Given the description of an element on the screen output the (x, y) to click on. 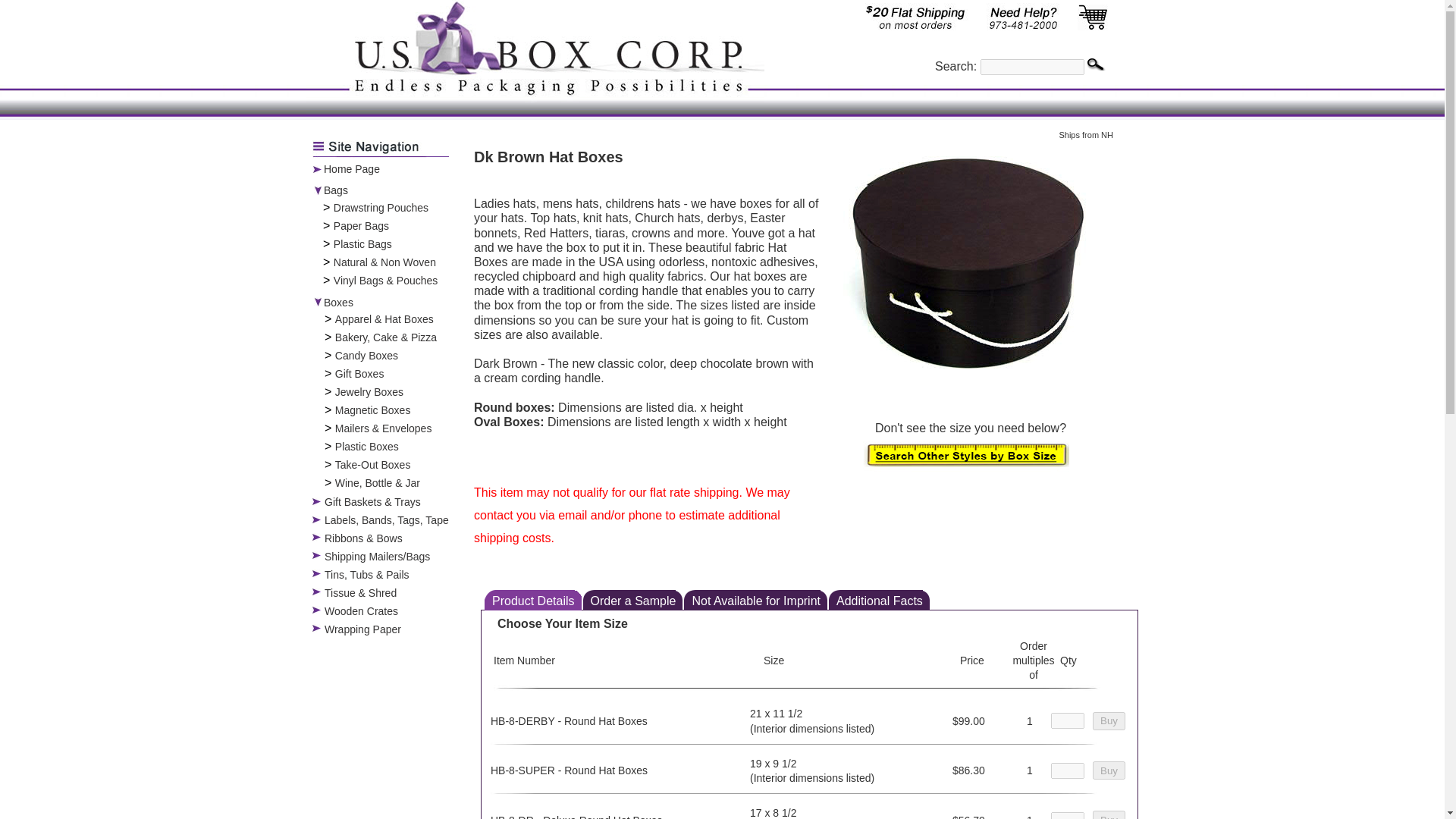
point (315, 519)
Magnetic Boxes (372, 410)
Home Page (351, 168)
Buy (1109, 770)
Paper Bags (360, 225)
Buy (1109, 720)
Take-Out Boxes (372, 464)
Not Available for Imprint (756, 598)
Product Details (533, 599)
Plastic Bags (362, 244)
